Given the description of an element on the screen output the (x, y) to click on. 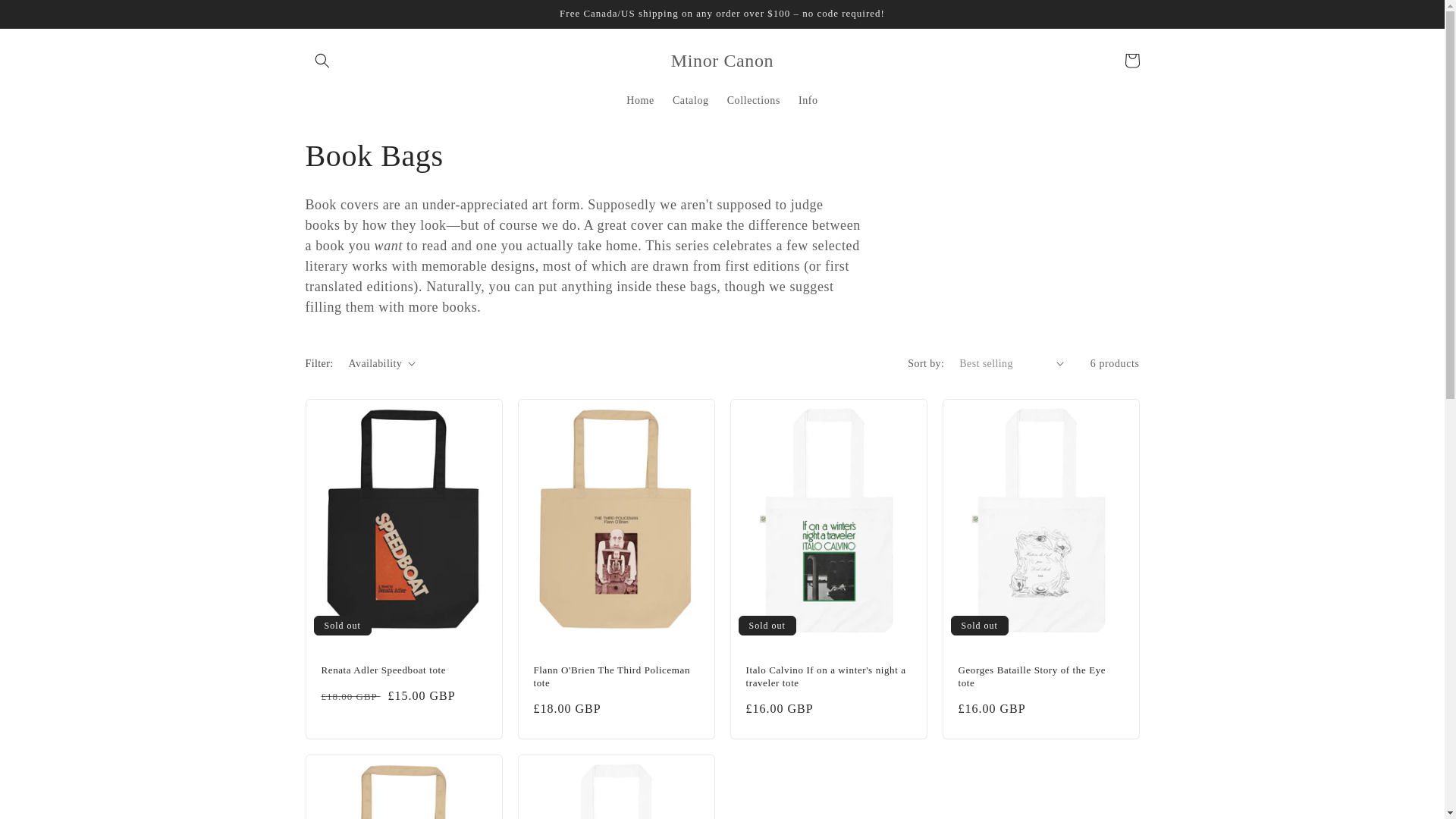
Flann O'Brien The Third Policeman tote (616, 677)
Skip to content (45, 17)
Georges Bataille Story of the Eye tote (1041, 677)
Italo Calvino If on a winter's night a traveler tote (828, 677)
Cart (1131, 60)
Renata Adler Speedboat tote (403, 670)
Home (640, 101)
Info (808, 101)
Minor Canon (721, 60)
Collections (753, 101)
Catalog (690, 101)
